Given the description of an element on the screen output the (x, y) to click on. 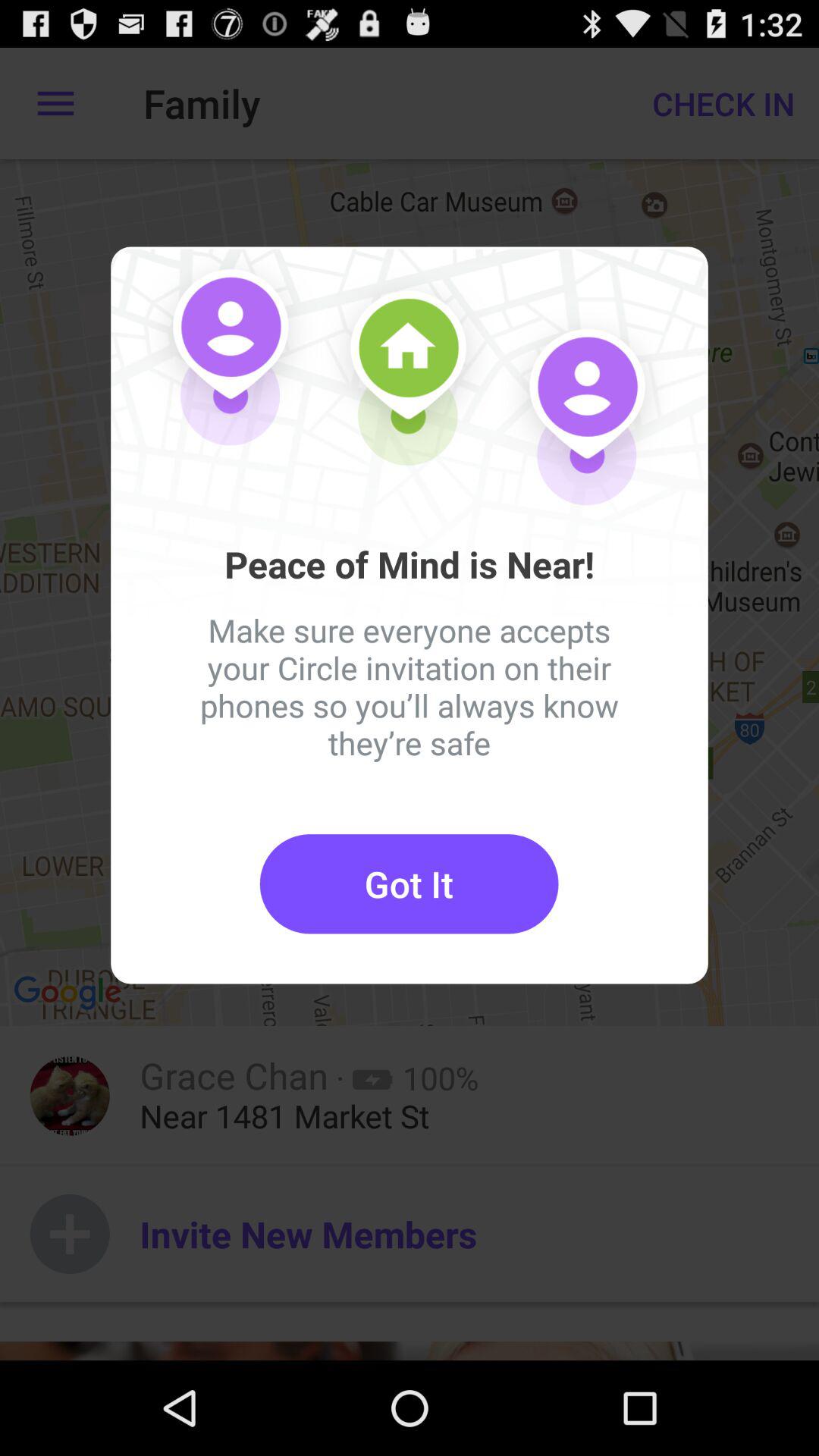
tap the got it (408, 883)
